Given the description of an element on the screen output the (x, y) to click on. 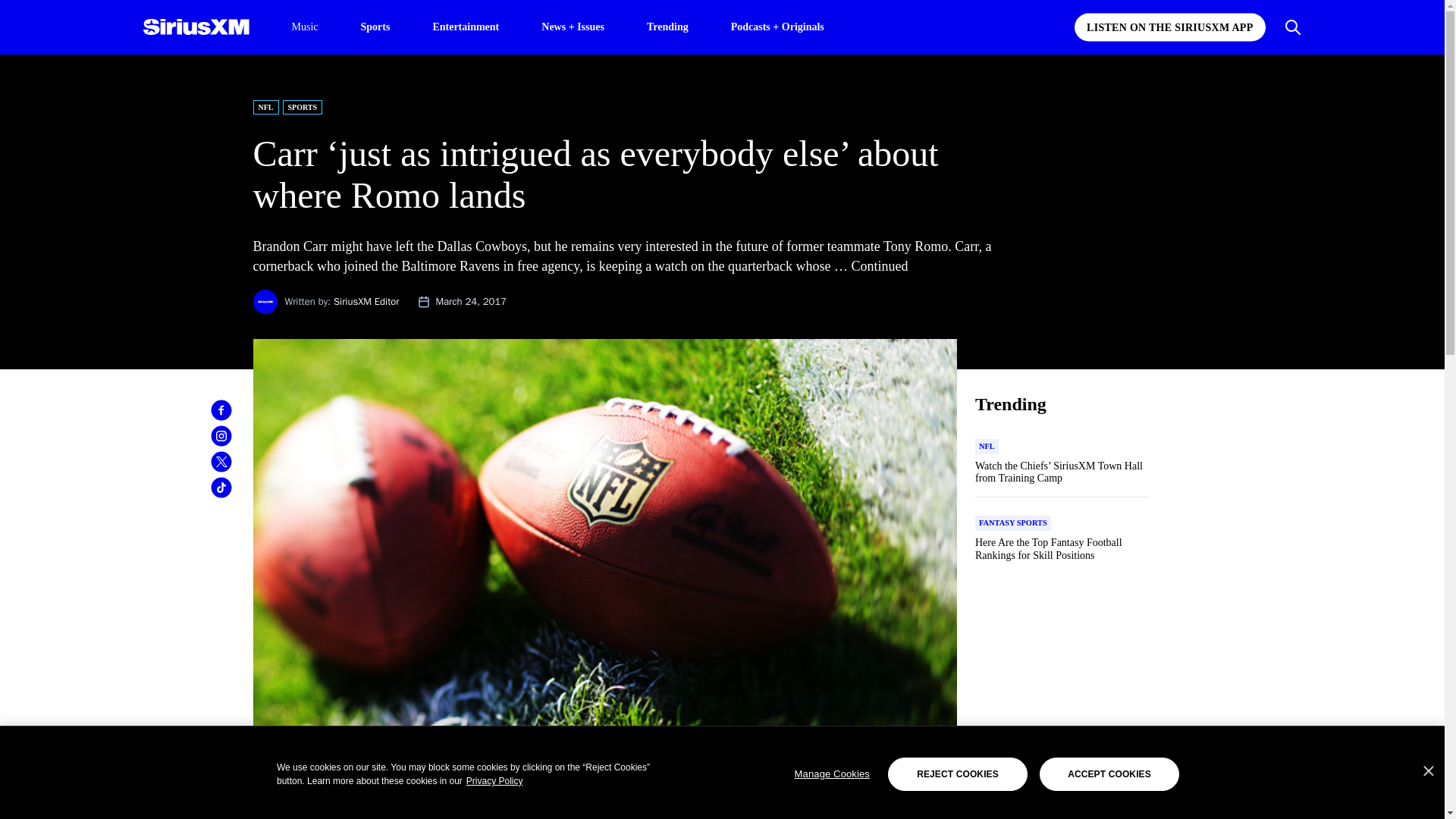
Entertainment (465, 26)
Music (304, 26)
LISTEN ON THE SIRIUSXM APP (1169, 27)
NFL (986, 446)
FANTASY SPORTS (1013, 522)
SPORTS (301, 106)
SiriusXM Editor (365, 300)
Trending (667, 26)
Continued (879, 265)
